Given the description of an element on the screen output the (x, y) to click on. 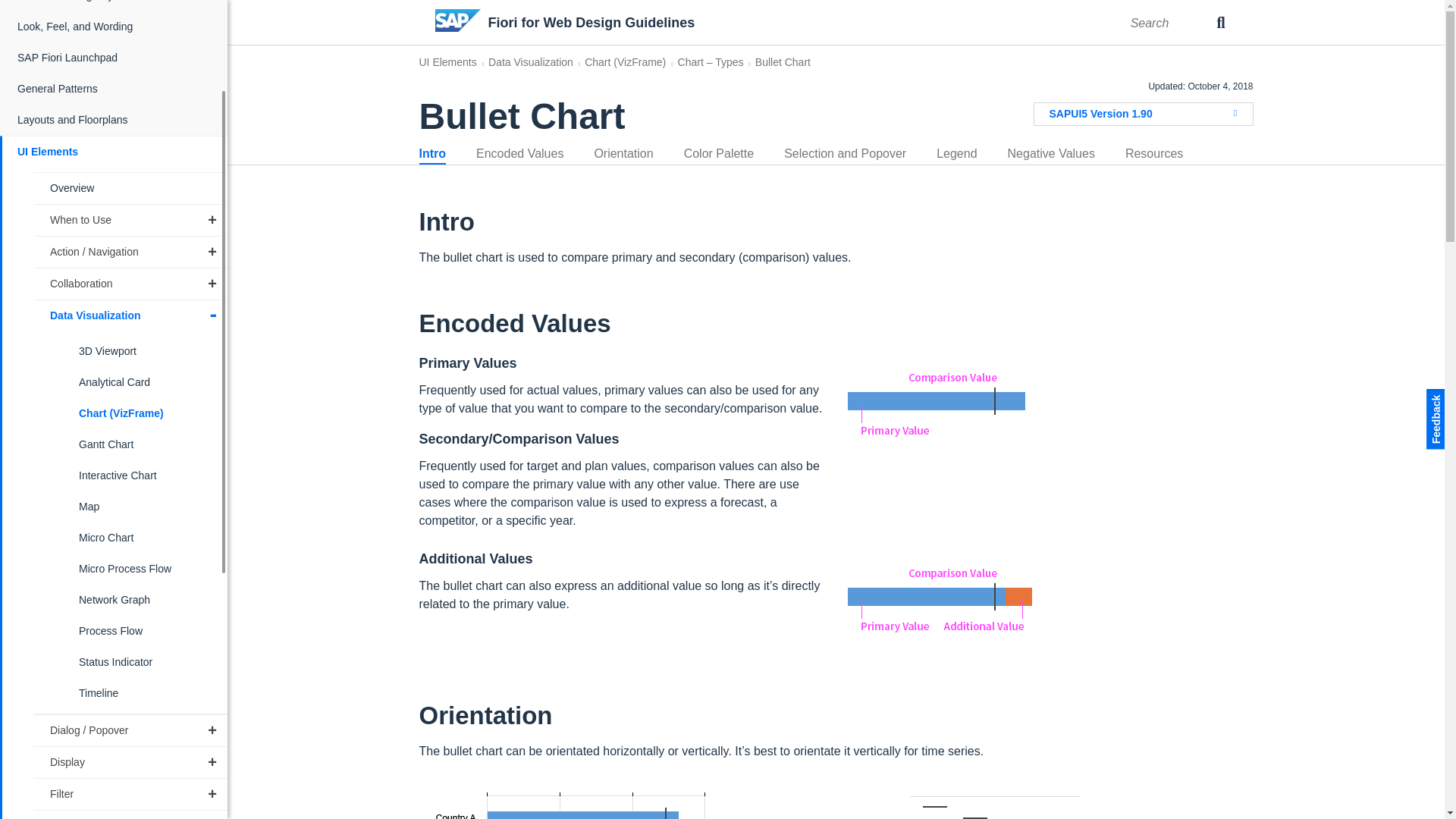
General Patterns (114, 88)
SAP Fiori Design System (114, 5)
Look, Feel, and Wording (114, 26)
SAP Fiori Launchpad (114, 57)
